Given the description of an element on the screen output the (x, y) to click on. 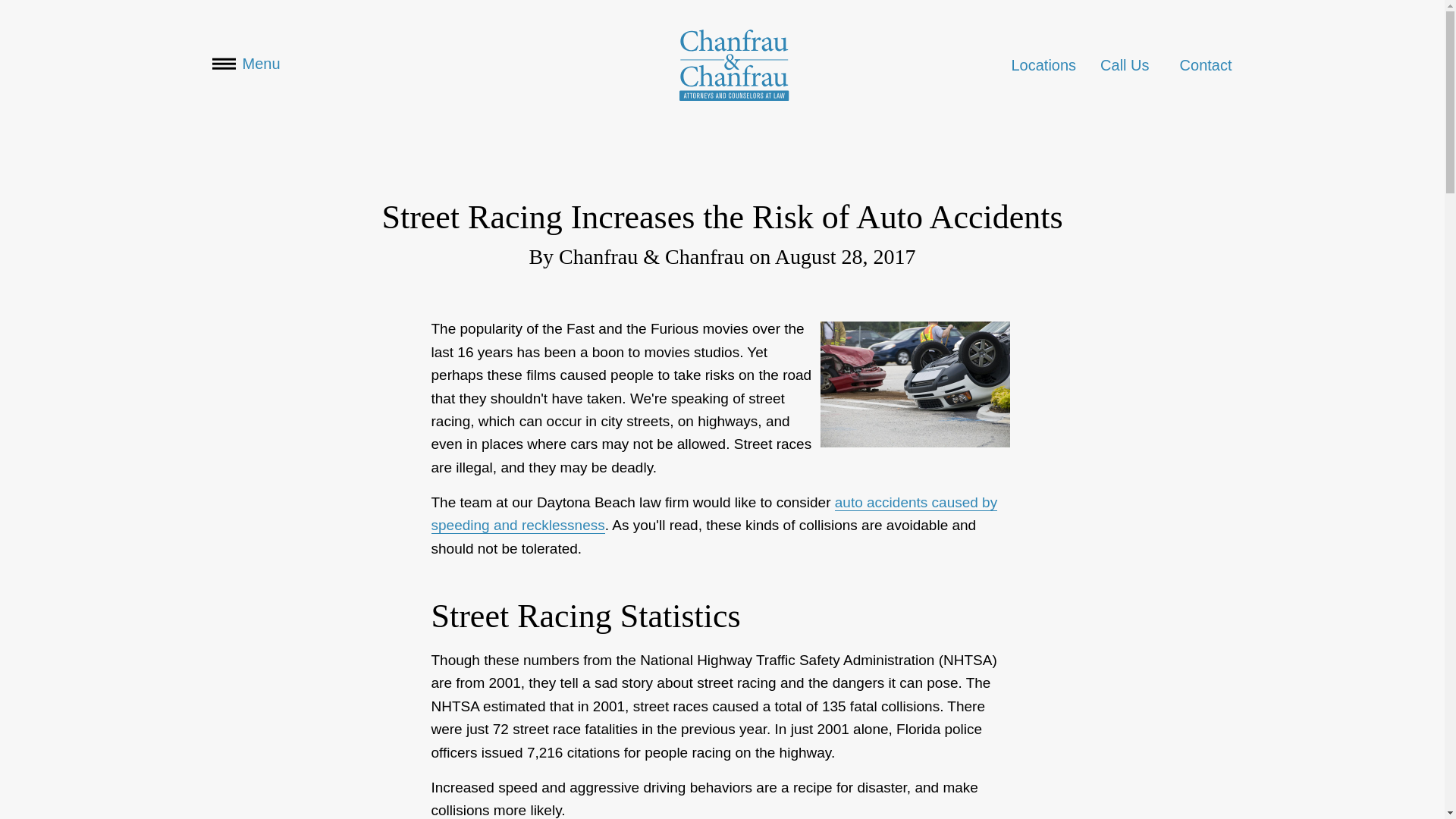
auto accidents caused by speeding and recklessness (713, 513)
Contact (1205, 64)
Locations (1042, 64)
Call Us (1124, 64)
Menu (245, 63)
